Given the description of an element on the screen output the (x, y) to click on. 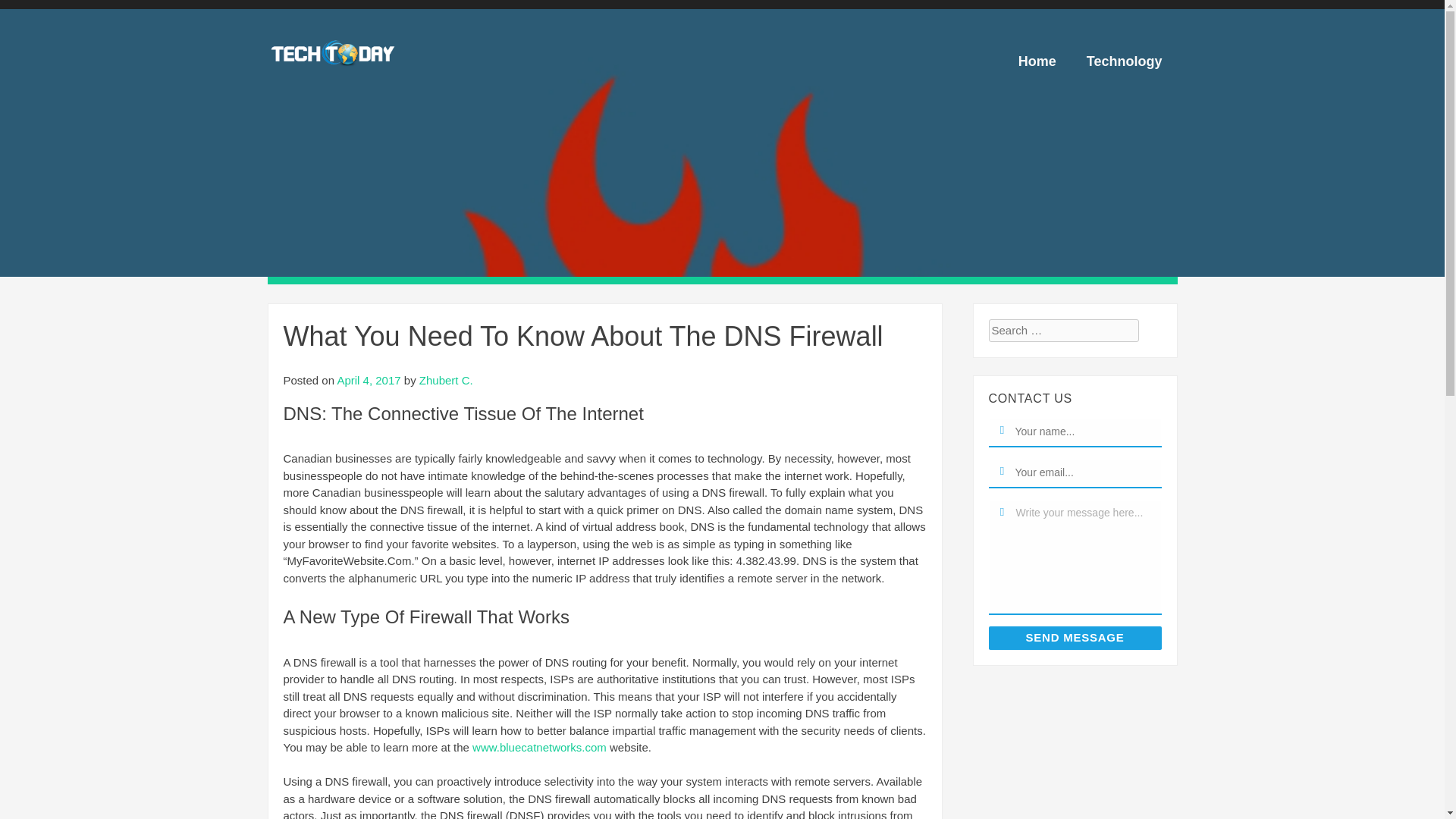
Search (44, 20)
Home (1037, 60)
SEND MESSAGE (1074, 638)
April 4, 2017 (368, 379)
www.bluecatnetworks.com (539, 747)
Your name... (1002, 431)
Technology (1124, 60)
Industry Tech News (361, 69)
Your email... (1002, 472)
Zhubert C. (446, 379)
